Given the description of an element on the screen output the (x, y) to click on. 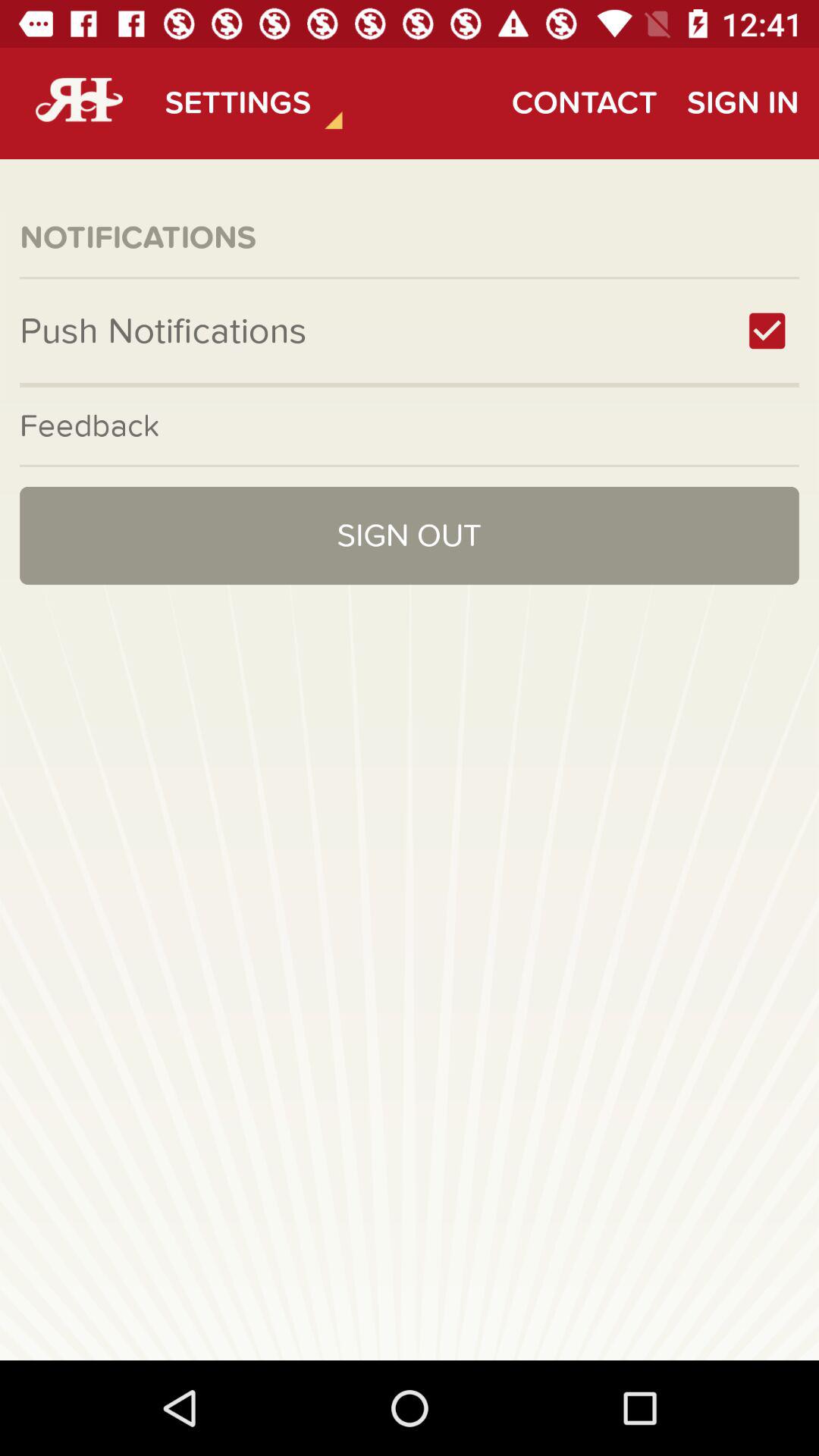
jump to feedback icon (409, 425)
